Given the description of an element on the screen output the (x, y) to click on. 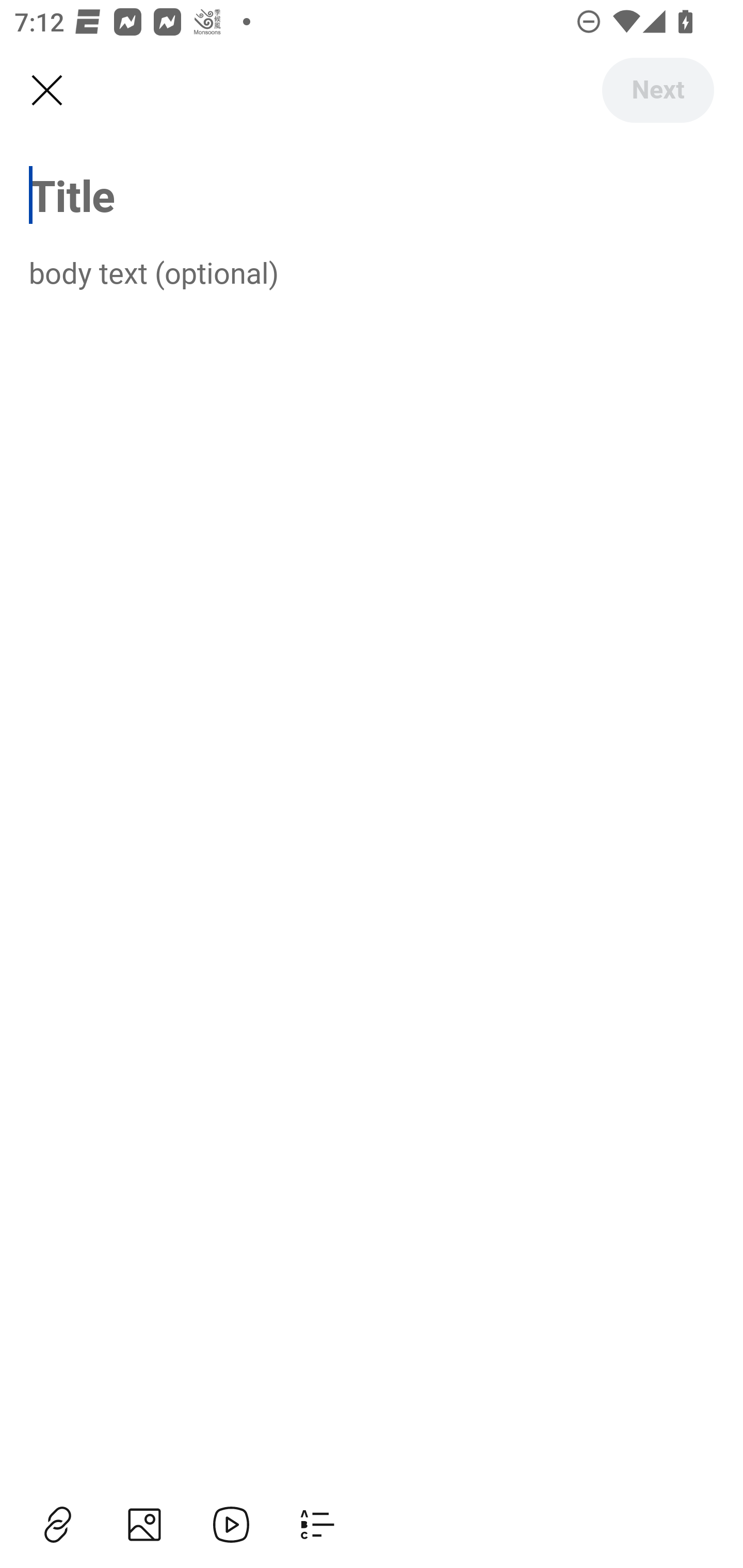
Close (46, 90)
Next (657, 90)
Post title (371, 195)
body text (optional) (371, 271)
